Given the description of an element on the screen output the (x, y) to click on. 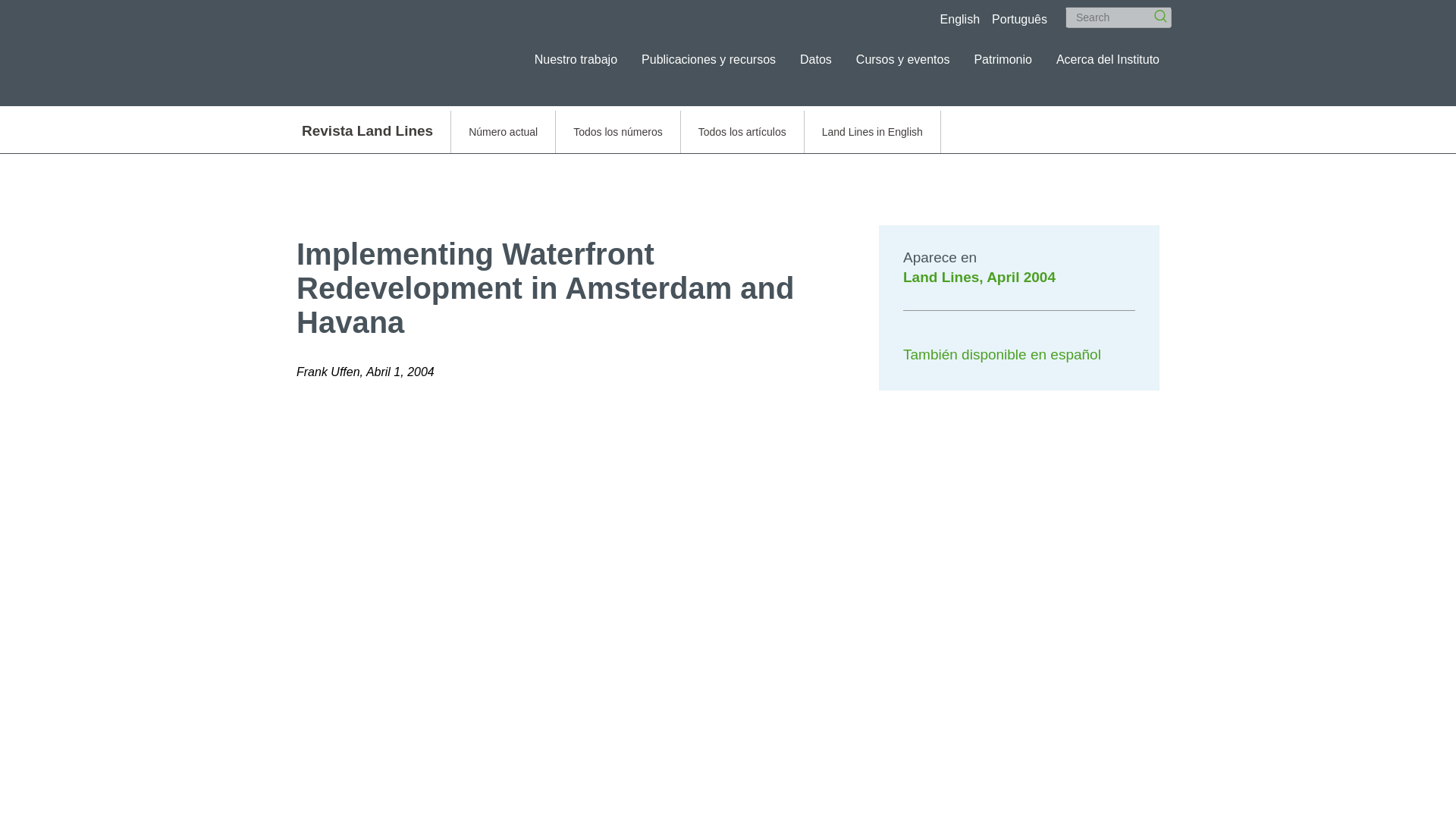
Datos (815, 59)
English (959, 19)
Publicaciones y recursos (709, 59)
Search (1118, 16)
Search (1154, 11)
Nuestro trabajo (575, 59)
Search (1154, 11)
